Given the description of an element on the screen output the (x, y) to click on. 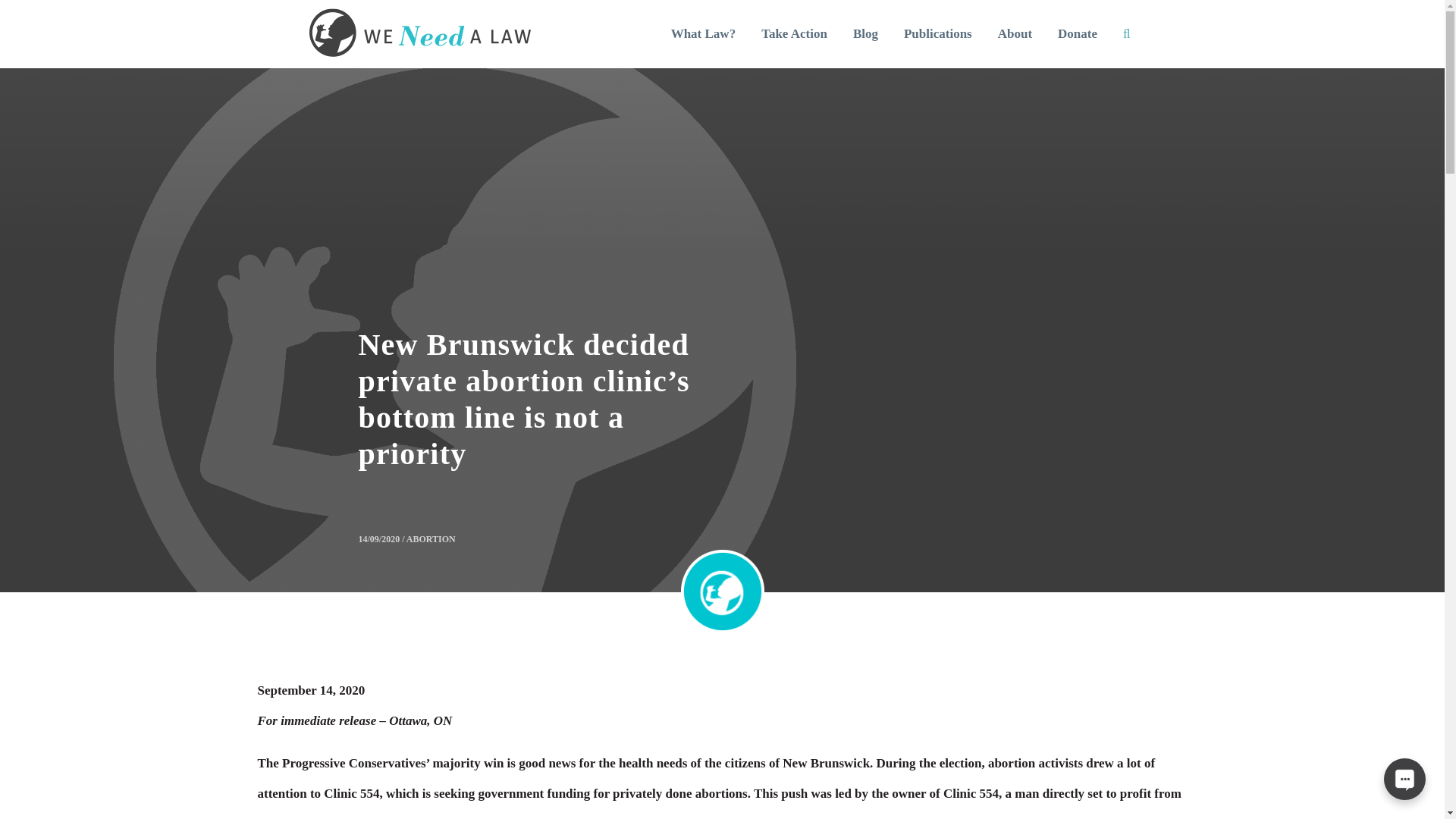
Donate (1076, 34)
Blog (865, 34)
What Law? (703, 34)
About (1014, 34)
Take Action (794, 34)
Publications (937, 34)
